Given the description of an element on the screen output the (x, y) to click on. 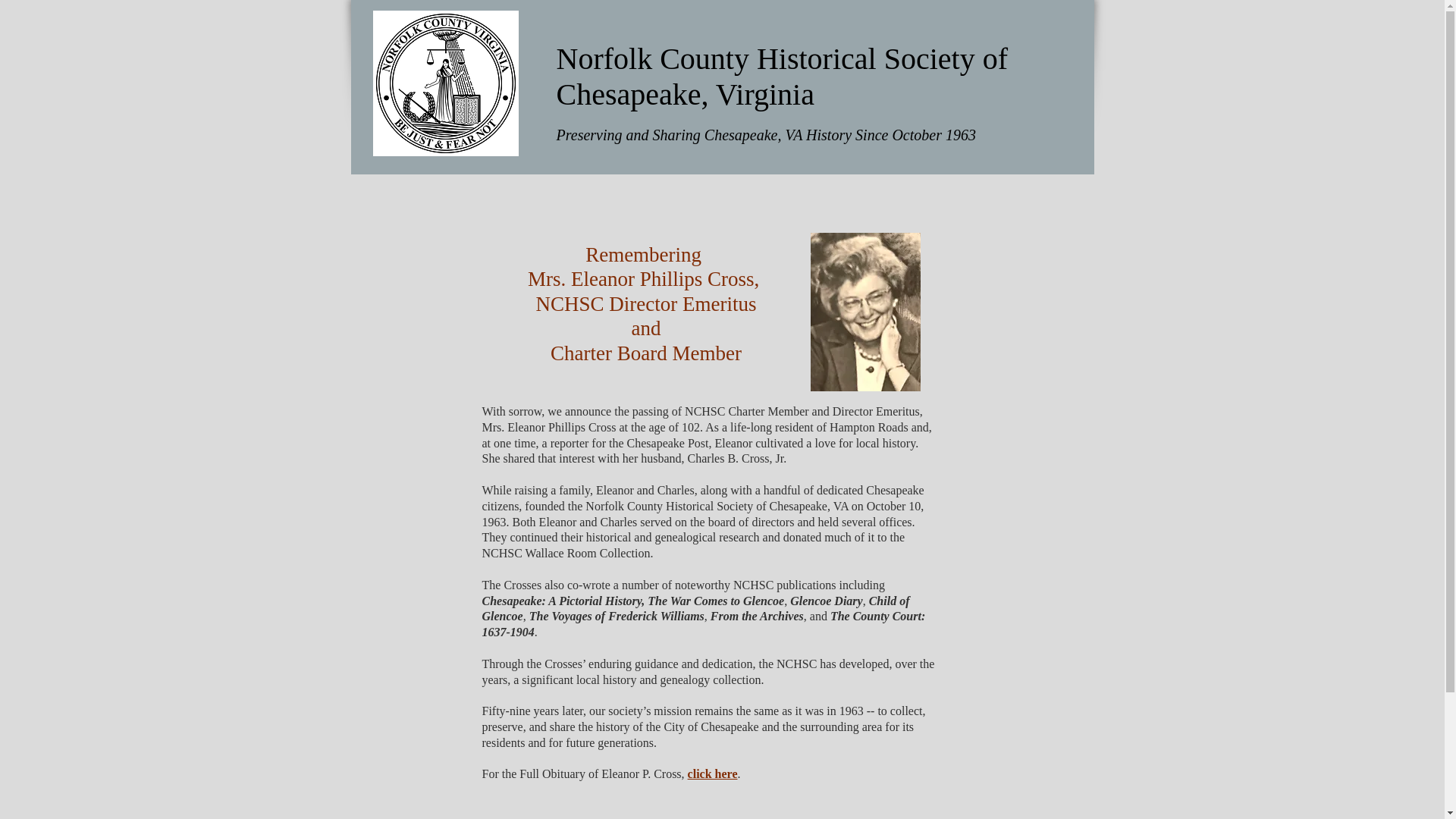
click here (712, 773)
Facebook Like (984, 25)
